Given the description of an element on the screen output the (x, y) to click on. 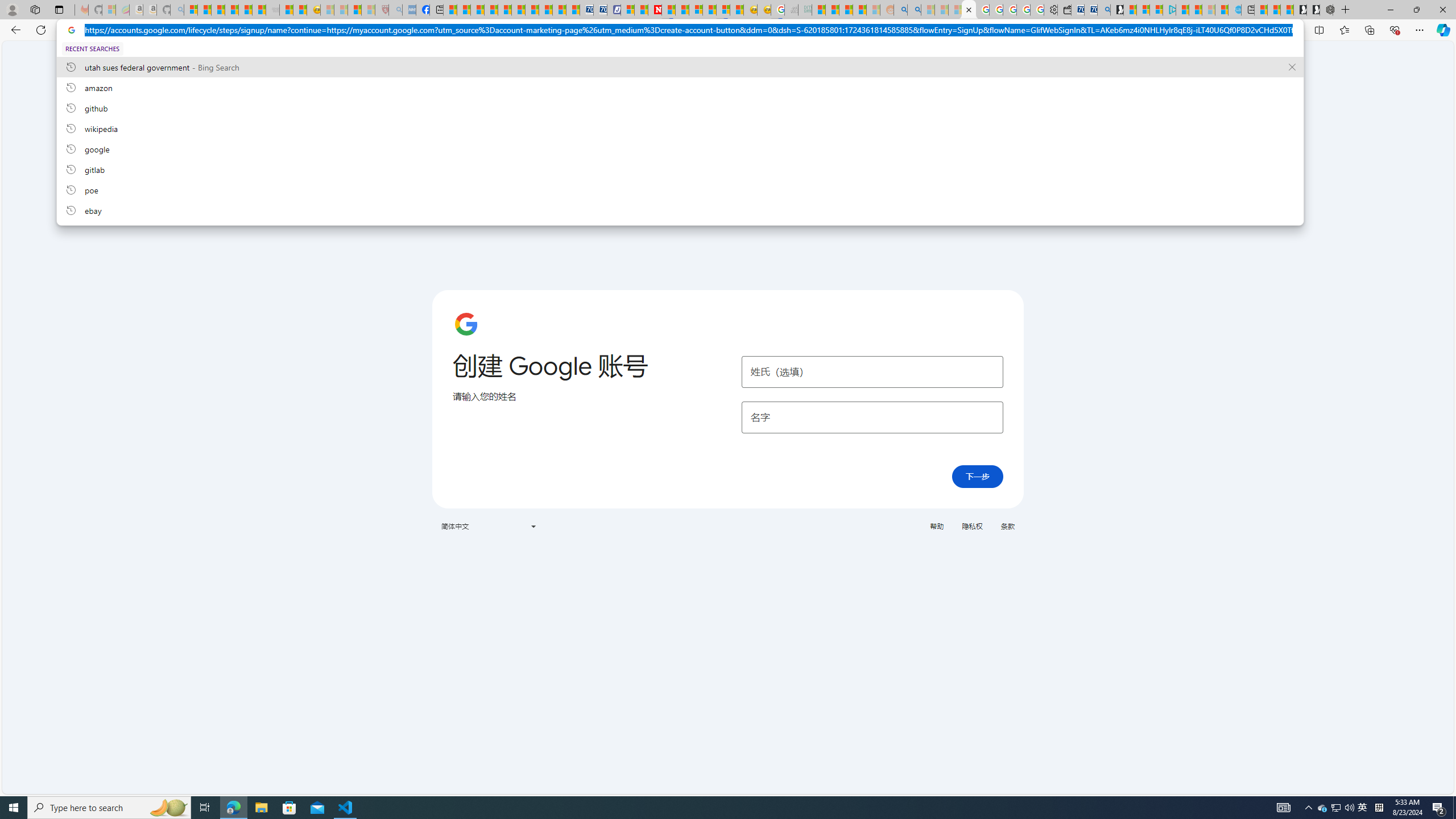
Class: VfPpkd-t08AT-Bz112c-Bd00G (532, 526)
utah sues federal government, recent searches from history (679, 66)
